Given the description of an element on the screen output the (x, y) to click on. 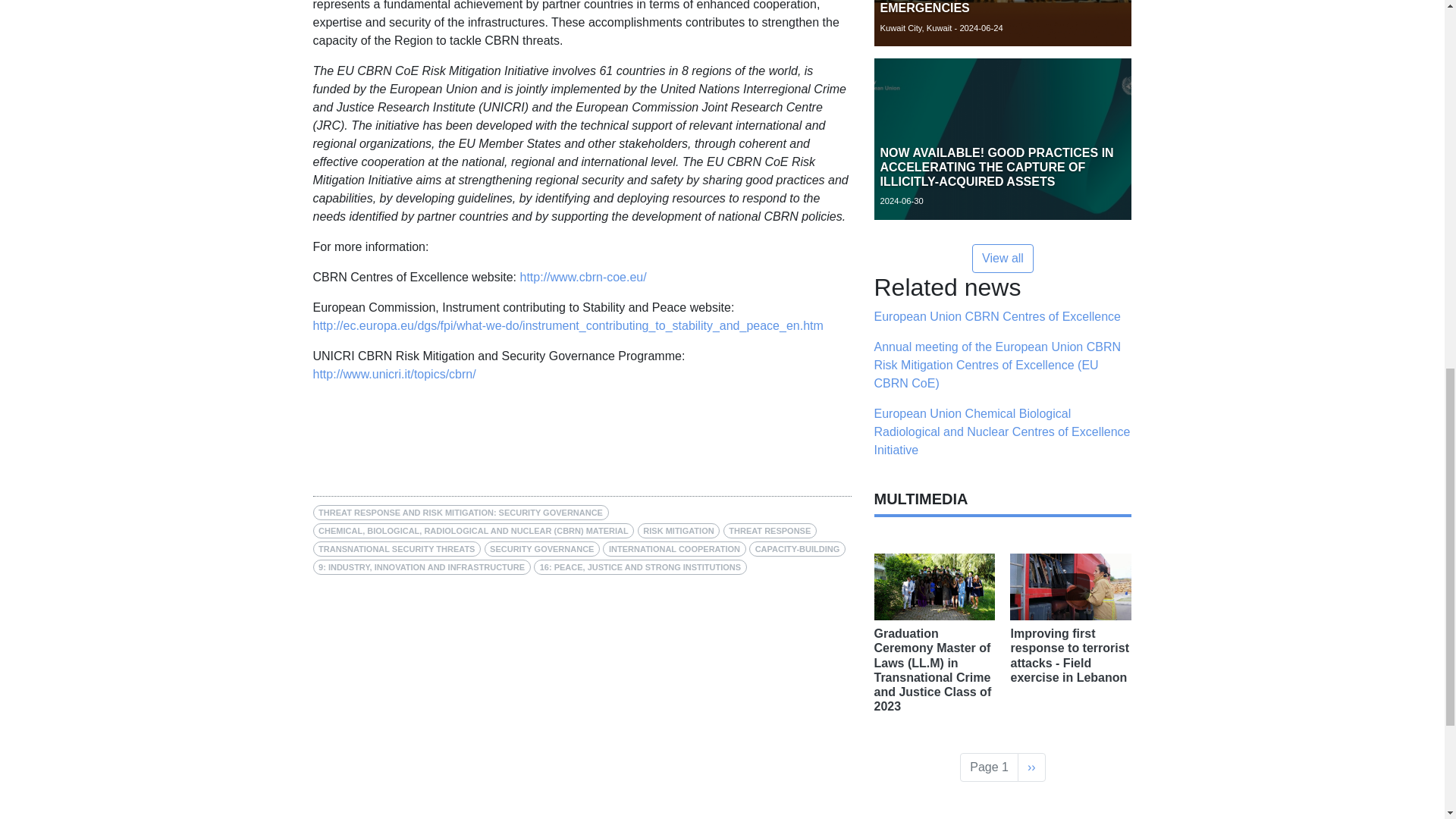
Go to next page (1031, 767)
